Given the description of an element on the screen output the (x, y) to click on. 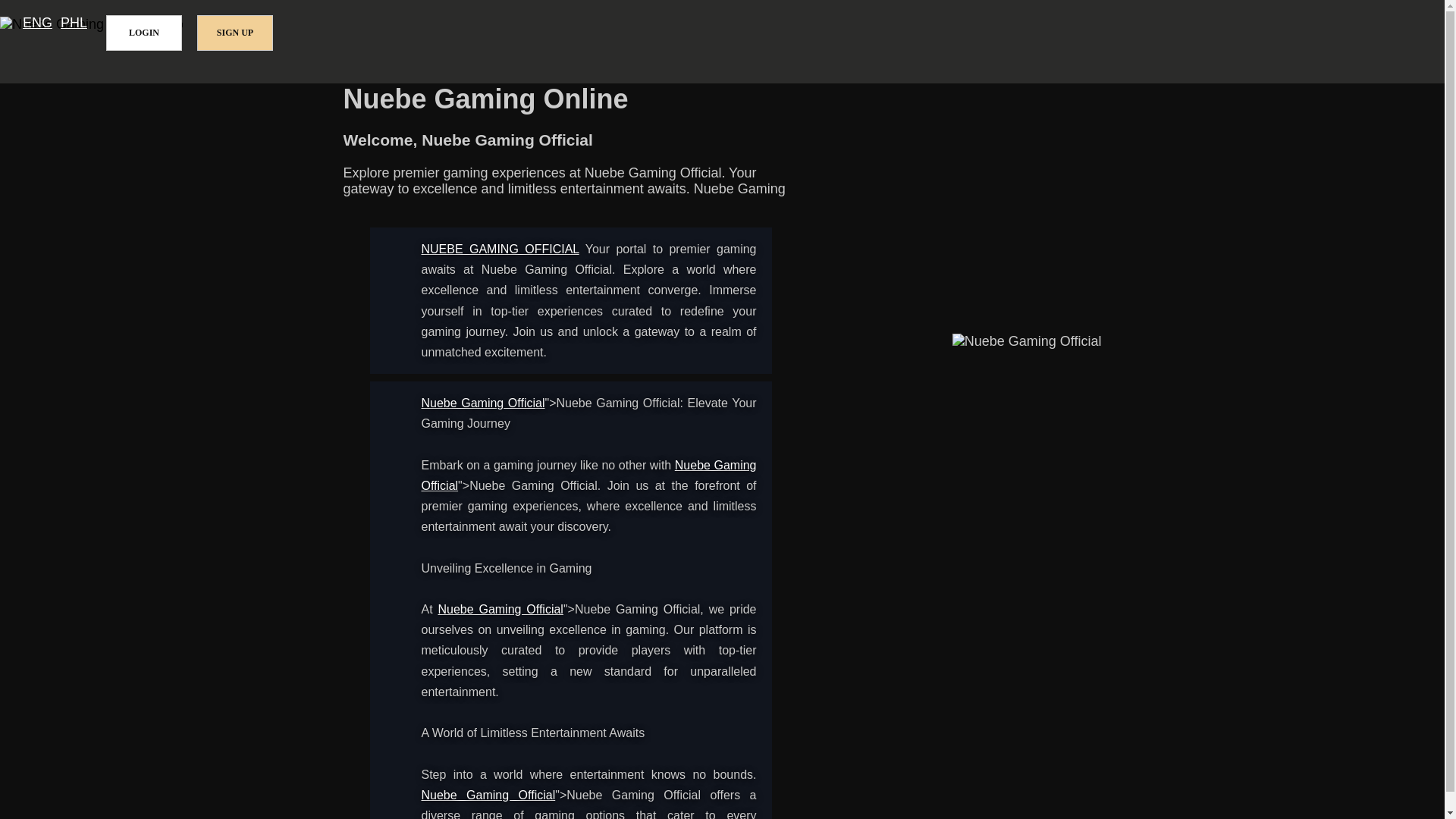
Nuebe Gaming Official (489, 794)
LOGIN (144, 32)
Nuebe Gaming Official (483, 402)
SIGN UP (234, 32)
Filipino (74, 23)
PHL (74, 23)
Nuebe Gaming Official (589, 475)
Nuebe Gaming Official (500, 608)
Nuebe Gaming Official (500, 248)
English (37, 23)
ENG (37, 23)
NUEBE GAMING OFFICIAL (500, 248)
